Given the description of an element on the screen output the (x, y) to click on. 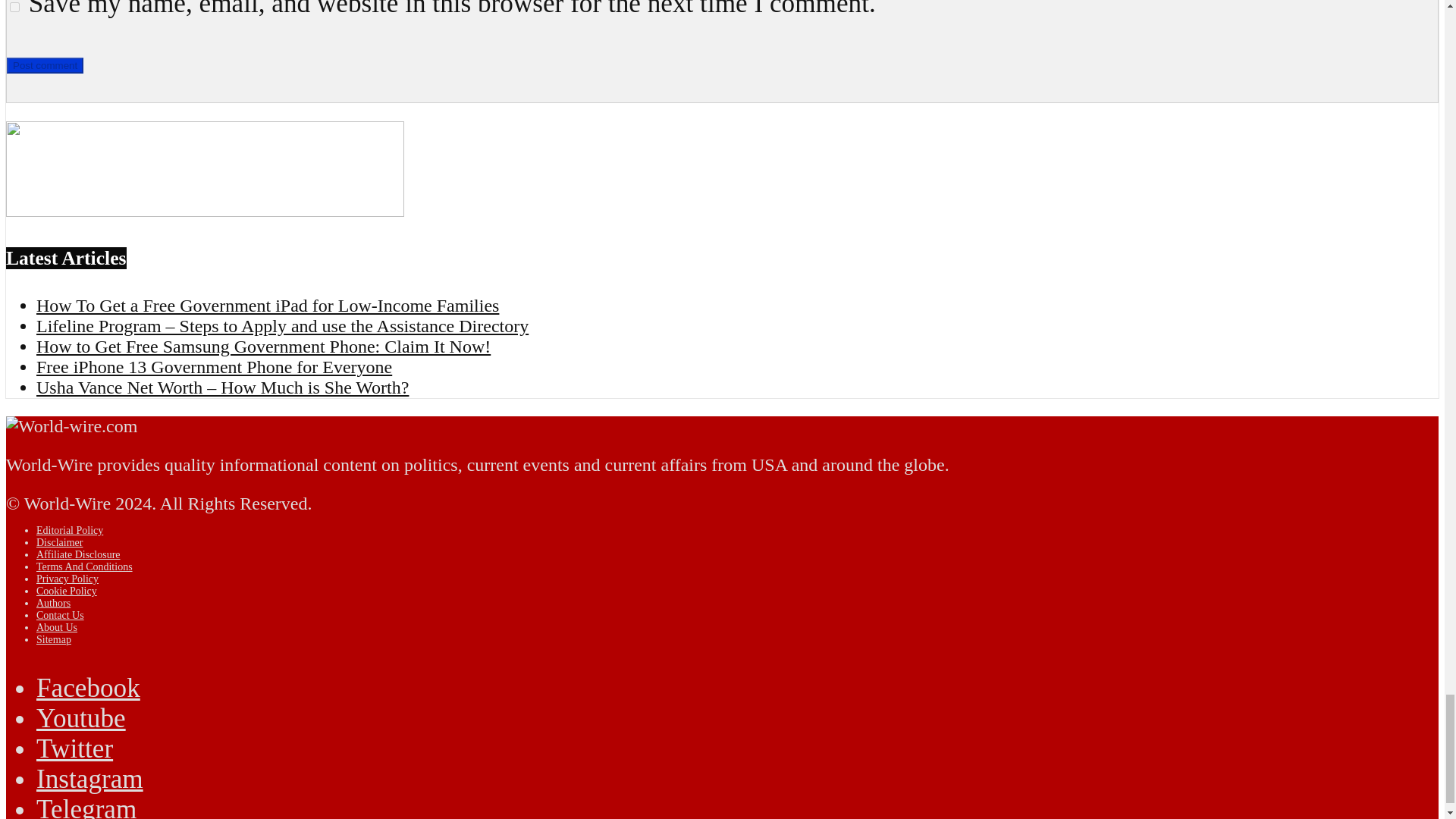
yes (15, 7)
Post comment (44, 65)
